Given the description of an element on the screen output the (x, y) to click on. 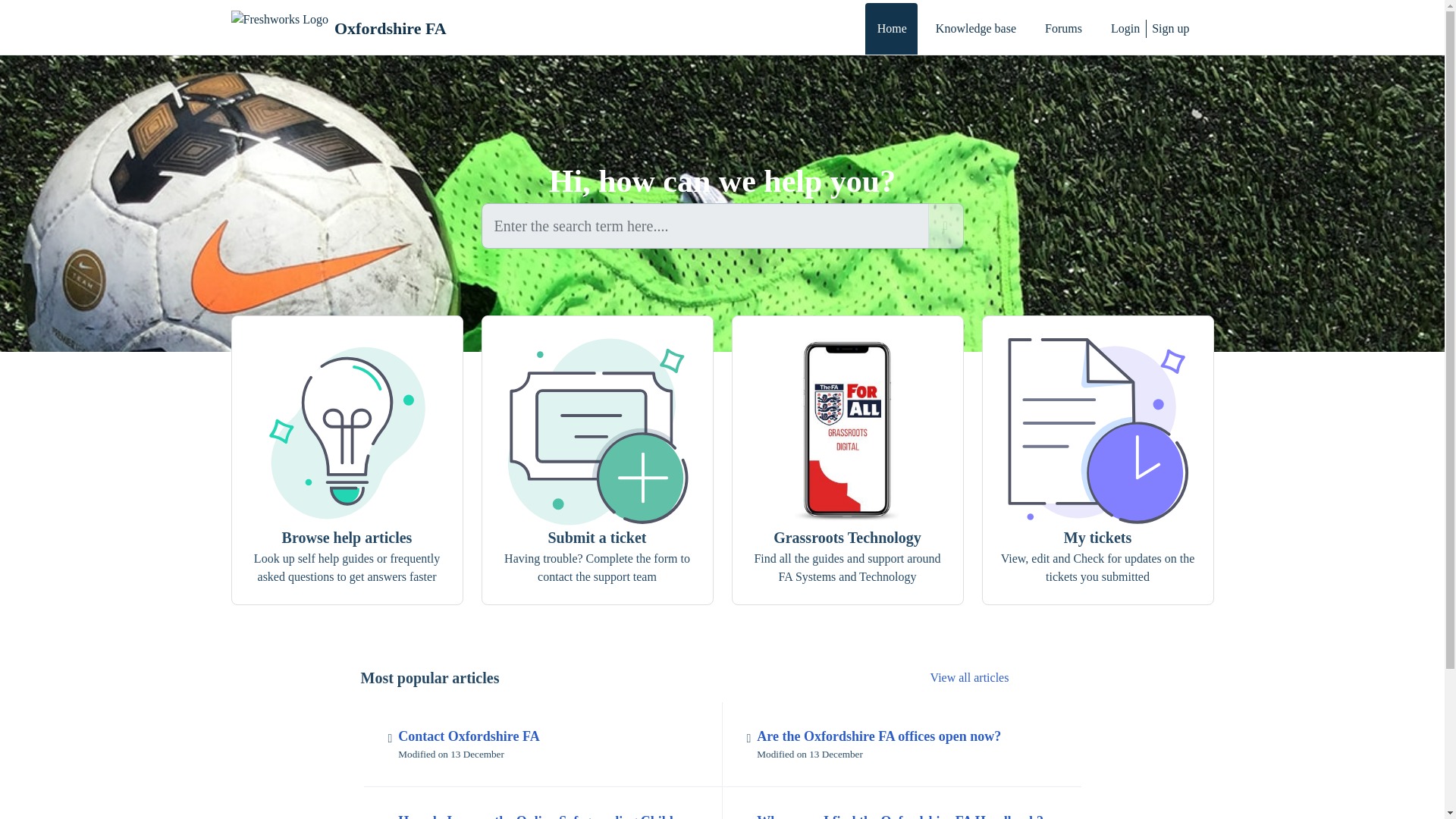
Home (890, 28)
View all articles (969, 676)
Oxfordshire FA (337, 28)
Forums (1062, 28)
Oxfordshire FA (543, 744)
Knowledge base (390, 28)
